Given the description of an element on the screen output the (x, y) to click on. 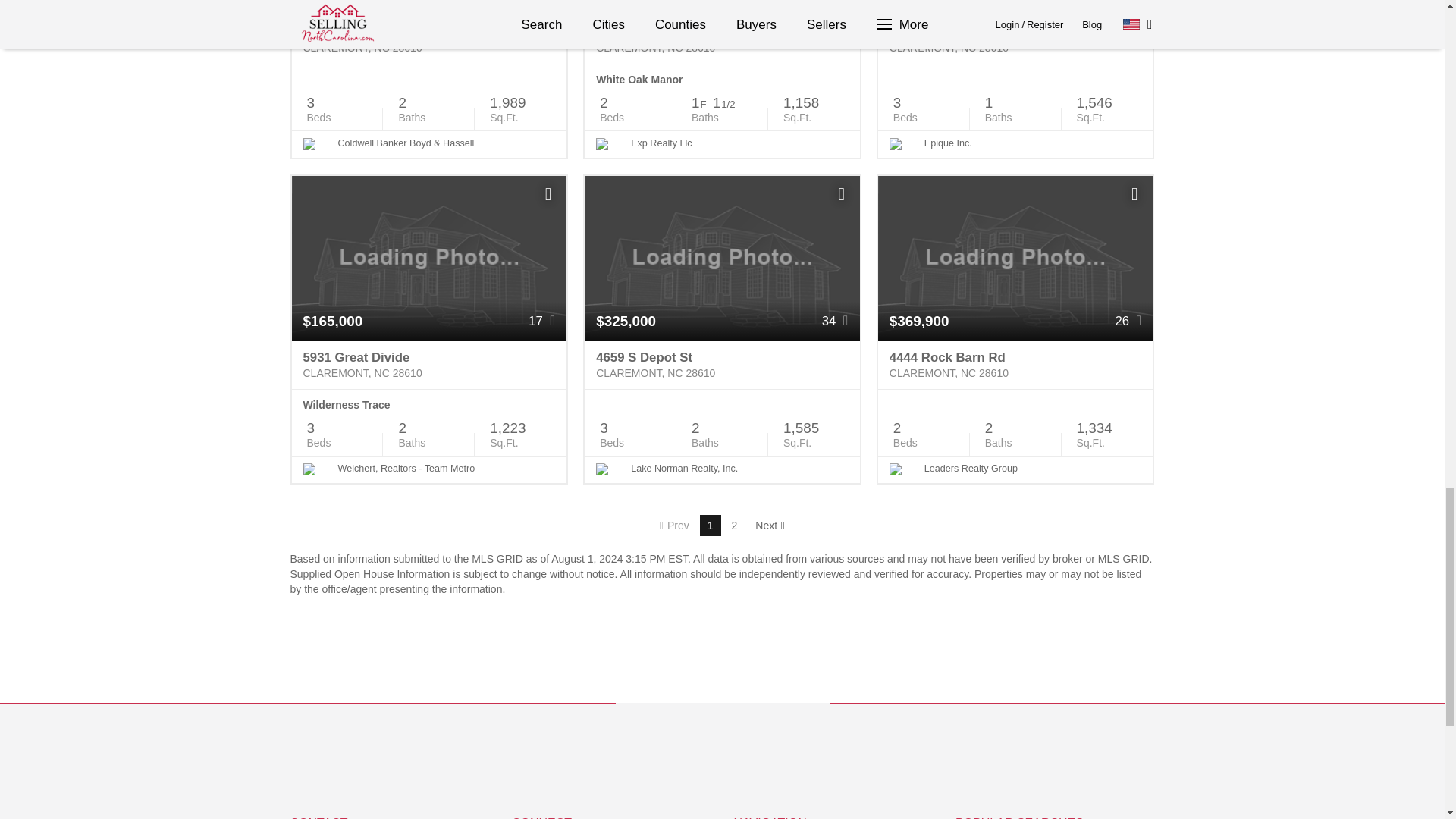
4286 Hall Dairy Rd Claremont,  NC 28610 (428, 39)
